Given the description of an element on the screen output the (x, y) to click on. 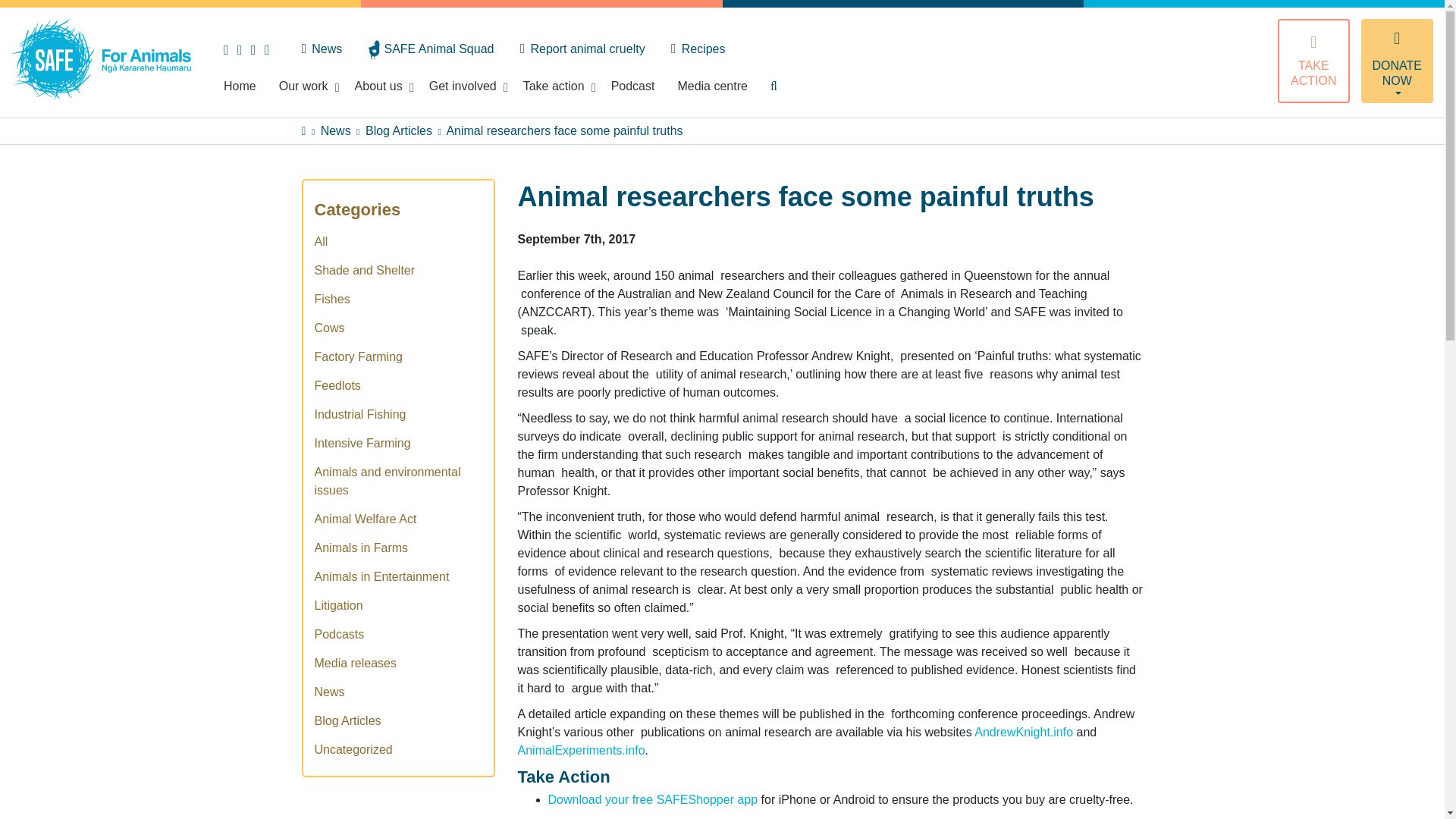
Go to News. (335, 130)
Go to the Blog Articles category archives. (398, 130)
